Given the description of an element on the screen output the (x, y) to click on. 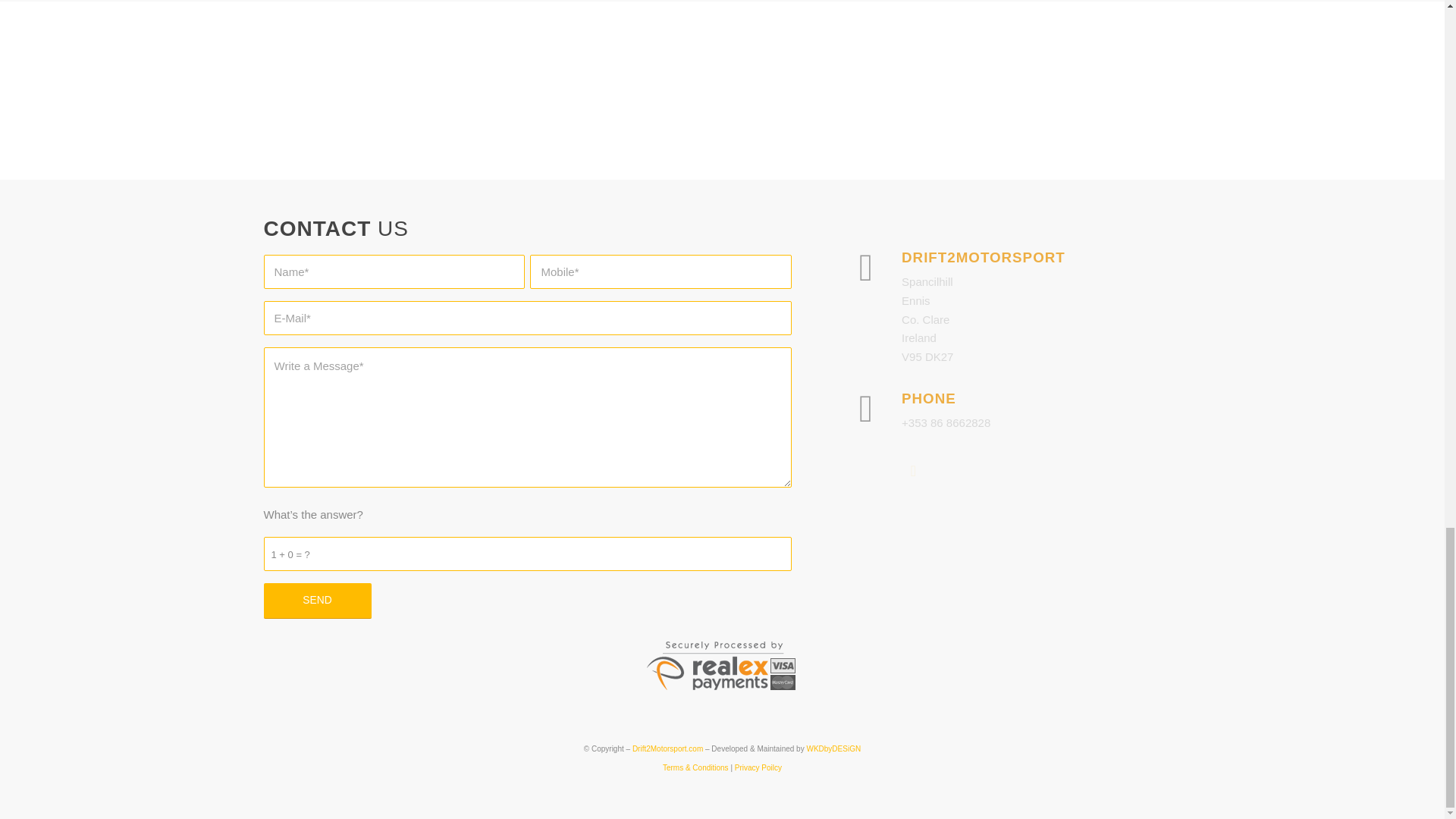
WKDbyDESiGN (833, 748)
Privacy Poilcy (758, 767)
Drift2Motorsport.com (667, 748)
SEND (317, 601)
SEND (317, 601)
